Given the description of an element on the screen output the (x, y) to click on. 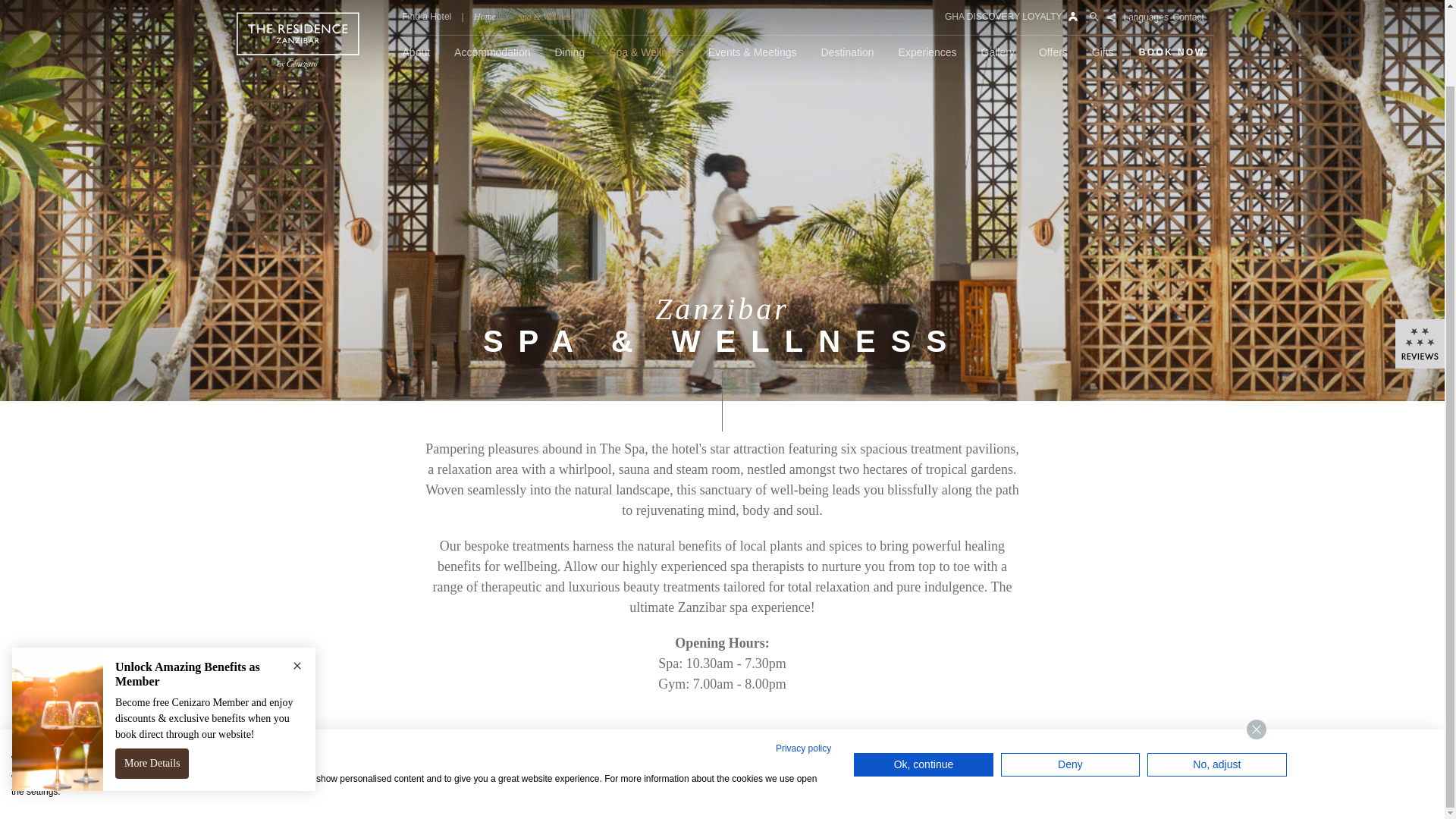
launcher (1403, 705)
MEDIA (635, 801)
SITEMAP (722, 801)
ABOUT CENIZARO (579, 801)
Check Availability (1100, 218)
greeting (1349, 652)
CAREERS (676, 801)
Overlay Message (163, 641)
